Given the description of an element on the screen output the (x, y) to click on. 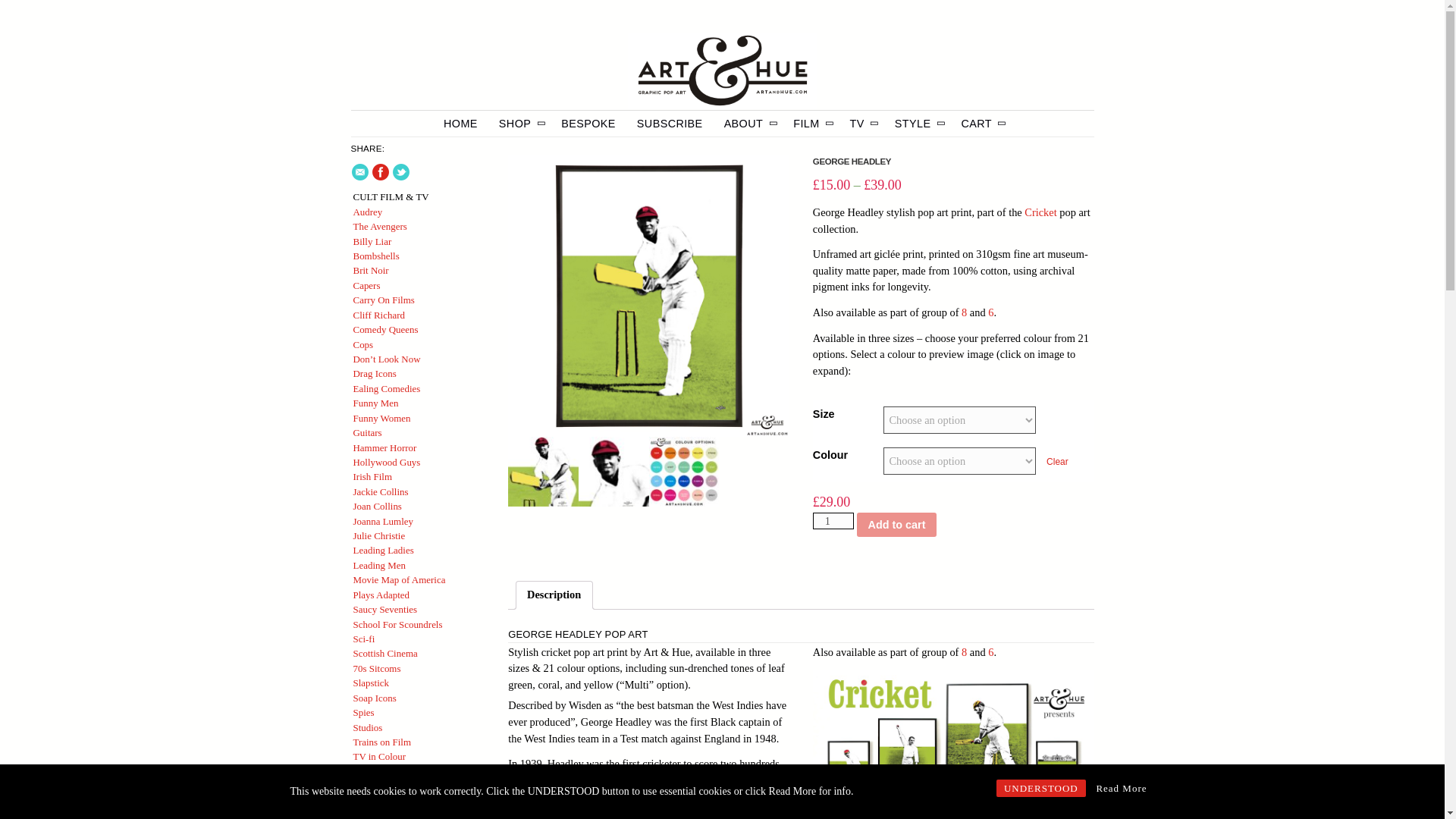
UNDERSTOOD (1040, 787)
HOME (460, 123)
SUBSCRIBE (670, 123)
Read More (1120, 787)
Home (721, 70)
BESPOKE (587, 123)
1 (832, 520)
Qty (832, 520)
